Given the description of an element on the screen output the (x, y) to click on. 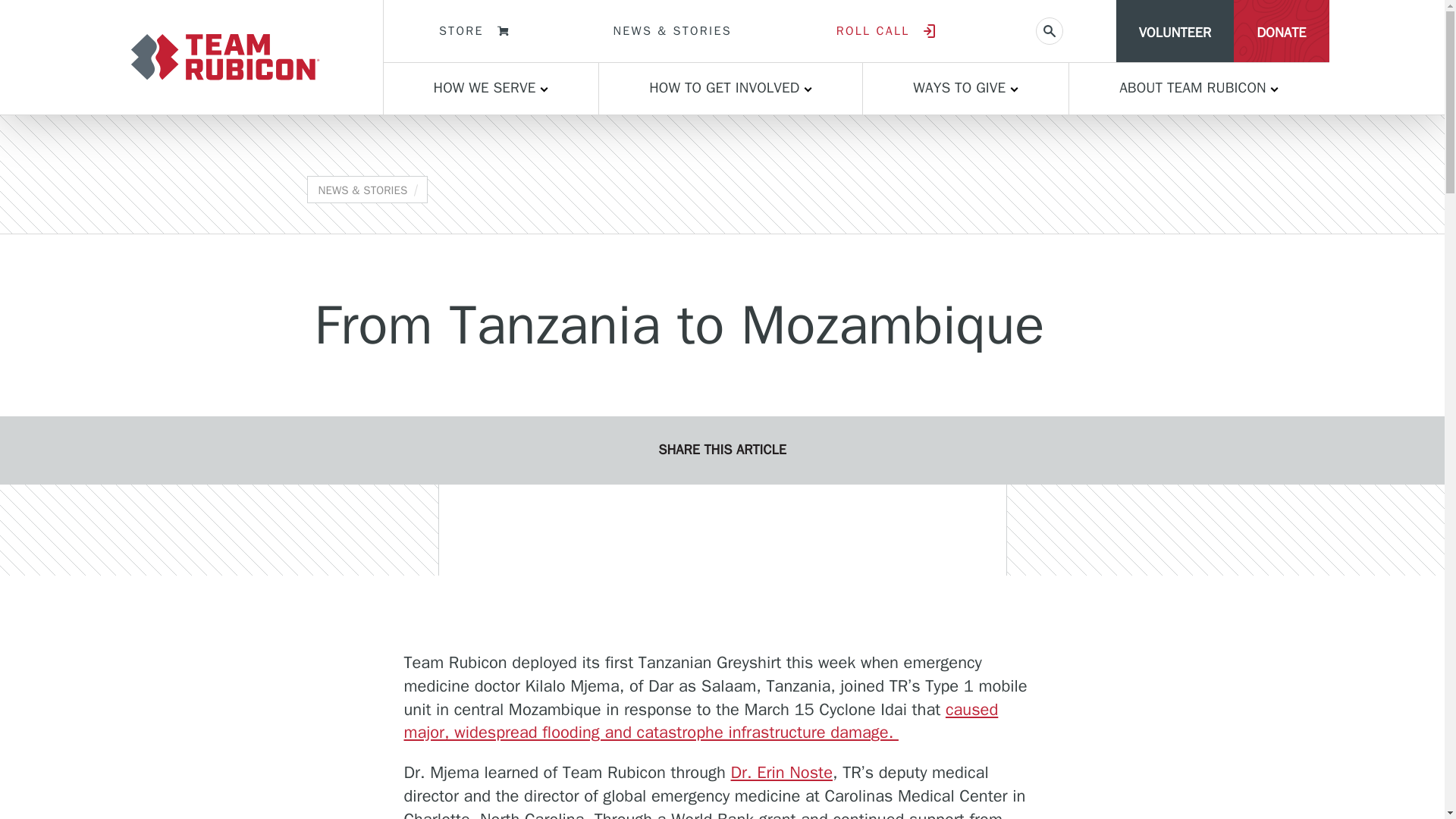
HOW TO GET INVOLVED (729, 88)
Team Rubicon (224, 56)
VOLUNTEER (1175, 31)
DONATE (1280, 31)
STORE (473, 30)
HOW WE SERVE (491, 88)
SEARCH (1048, 31)
WAYS TO GIVE (965, 88)
ABOUT TEAM RUBICON (1197, 88)
ROLL CALL (884, 30)
